Given the description of an element on the screen output the (x, y) to click on. 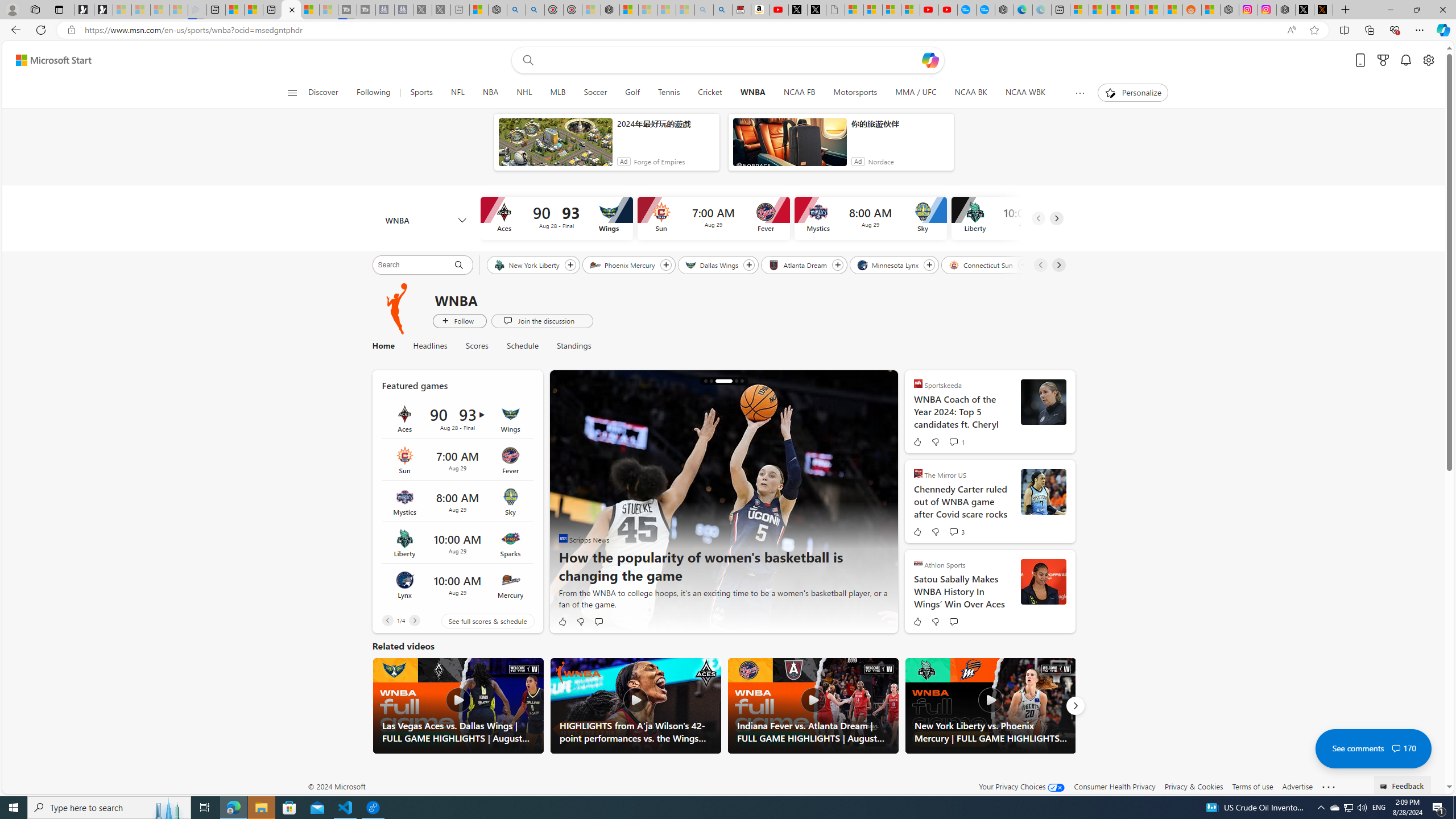
Join the discussion (541, 320)
Athlon Sports (917, 563)
Advertise (1297, 786)
Personalize (1132, 92)
Dislike (935, 621)
next (882, 501)
Schedule (522, 345)
